Given the description of an element on the screen output the (x, y) to click on. 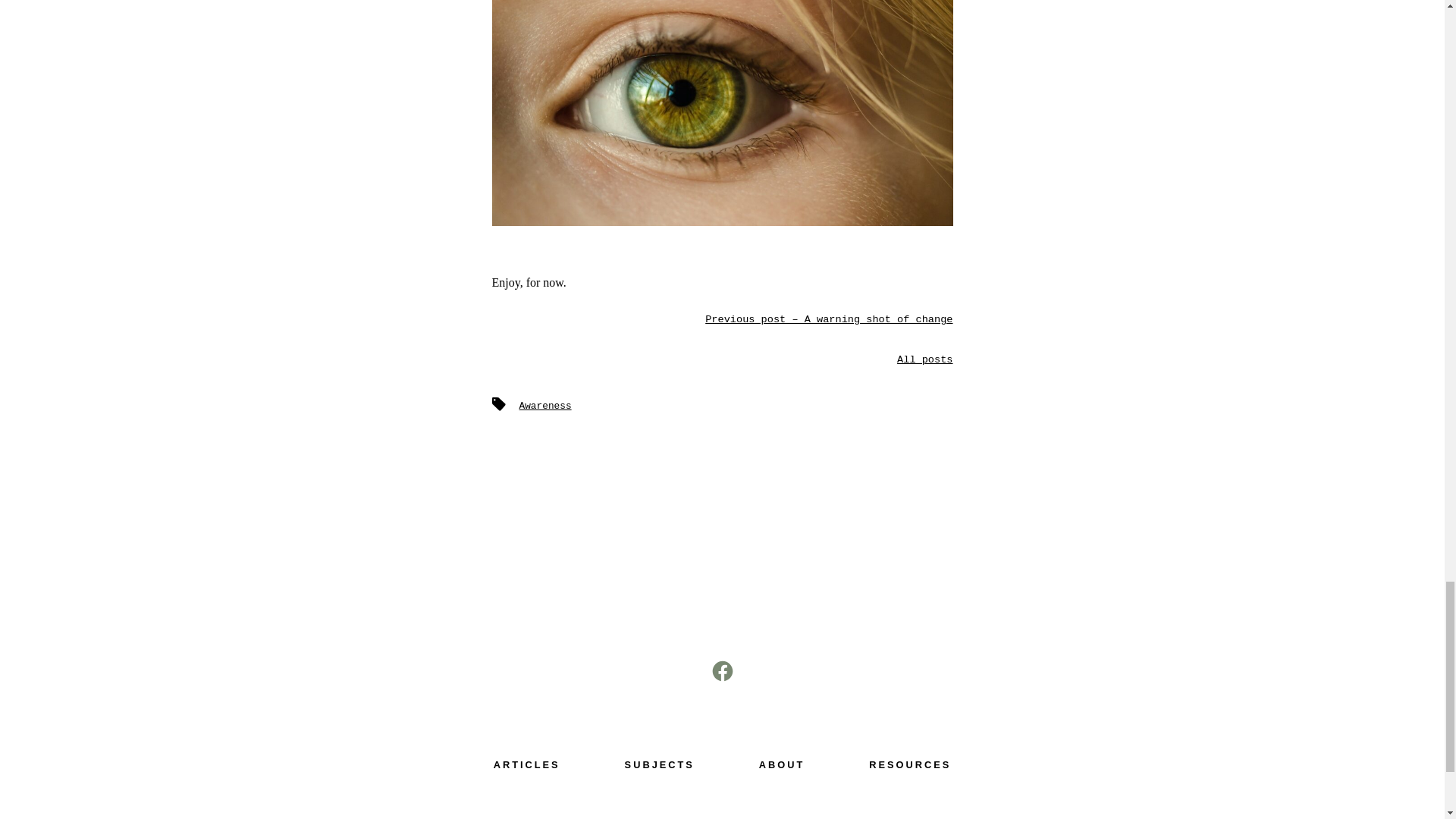
Awareness (544, 405)
ARTICLES (526, 764)
All posts (924, 359)
SUBJECTS (659, 764)
Open Facebook in a new tab (721, 671)
ABOUT (780, 764)
RESOURCES (909, 764)
